Given the description of an element on the screen output the (x, y) to click on. 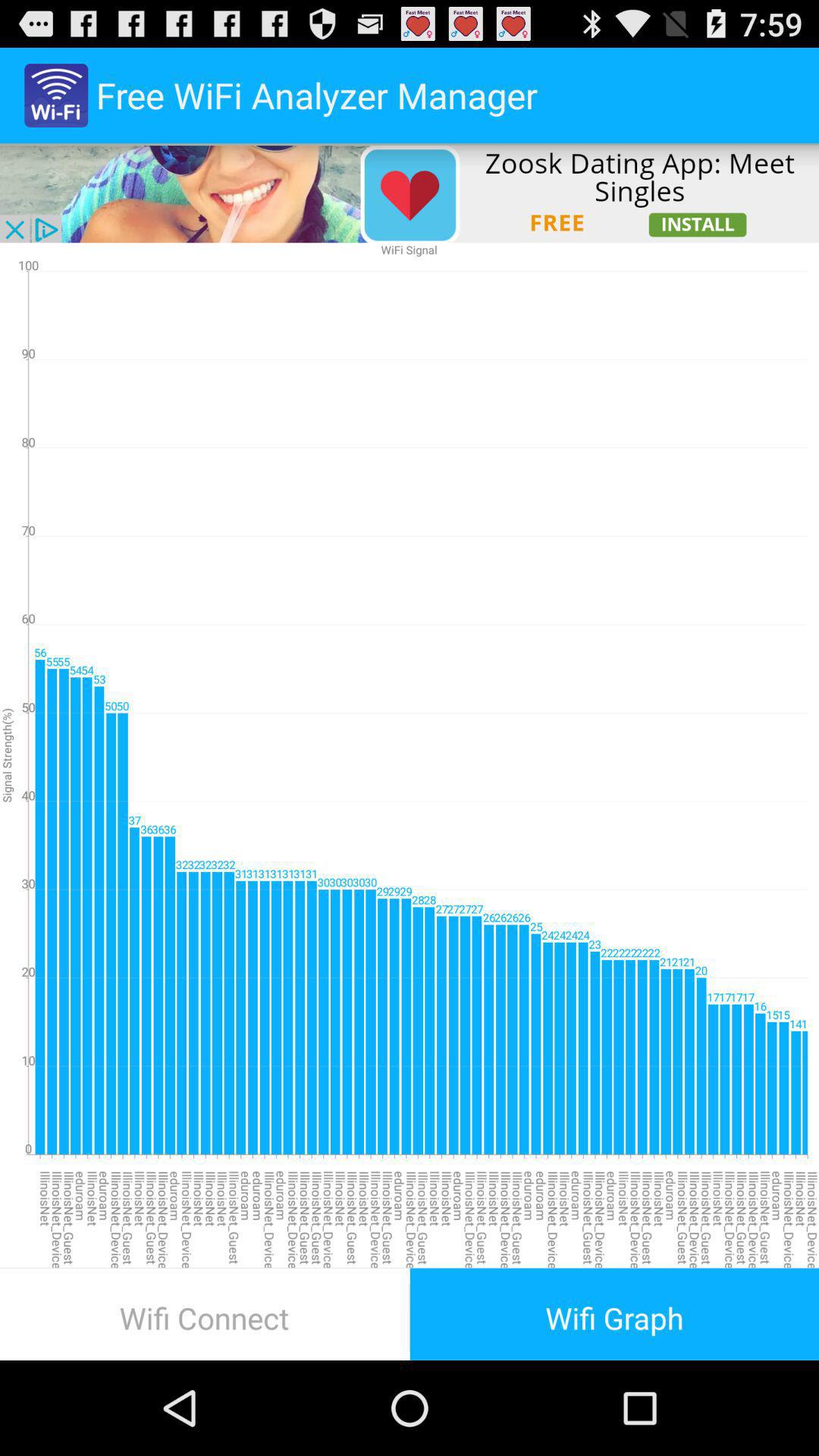
select the add (409, 192)
